Given the description of an element on the screen output the (x, y) to click on. 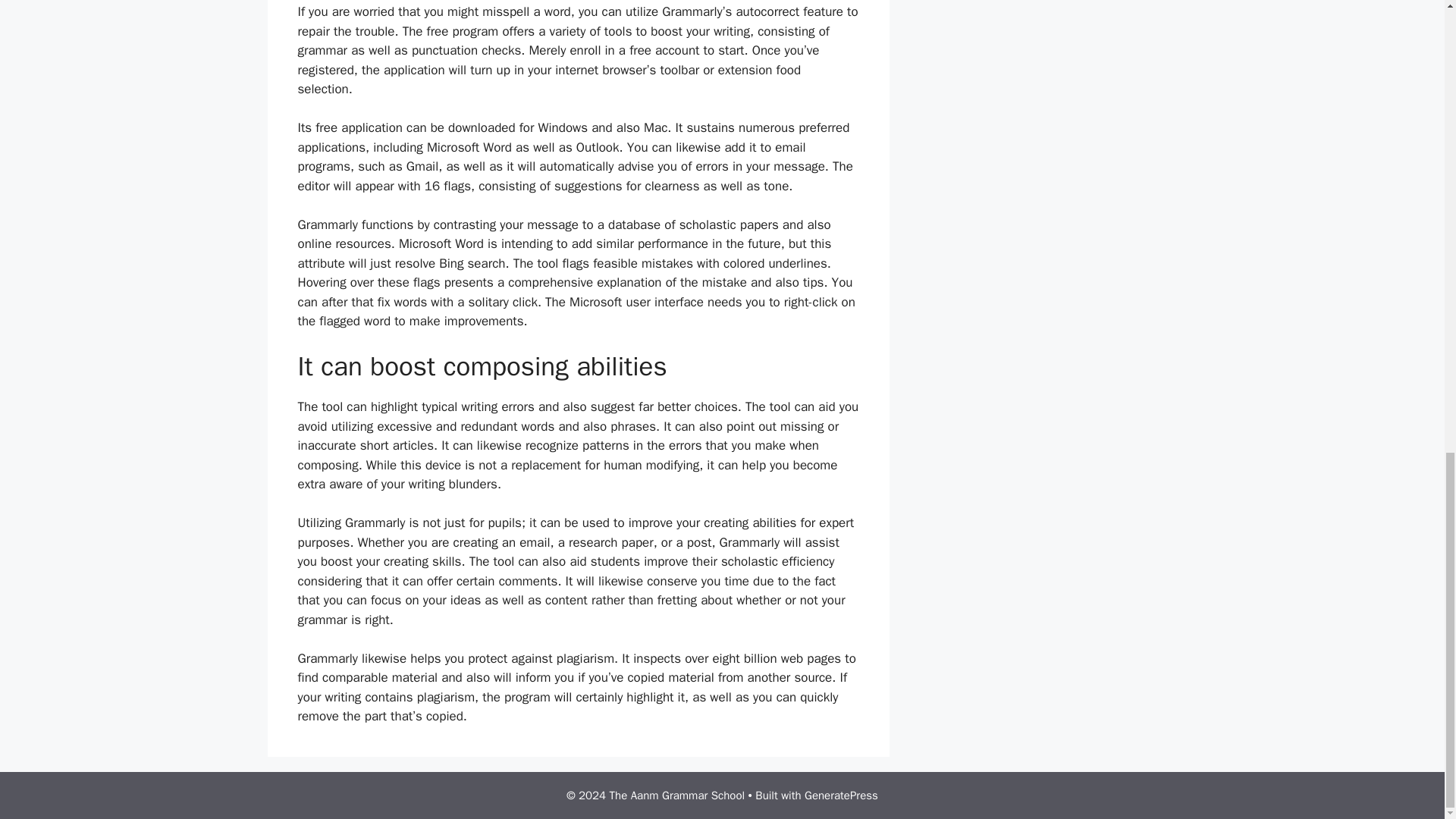
GeneratePress (841, 795)
